Given the description of an element on the screen output the (x, y) to click on. 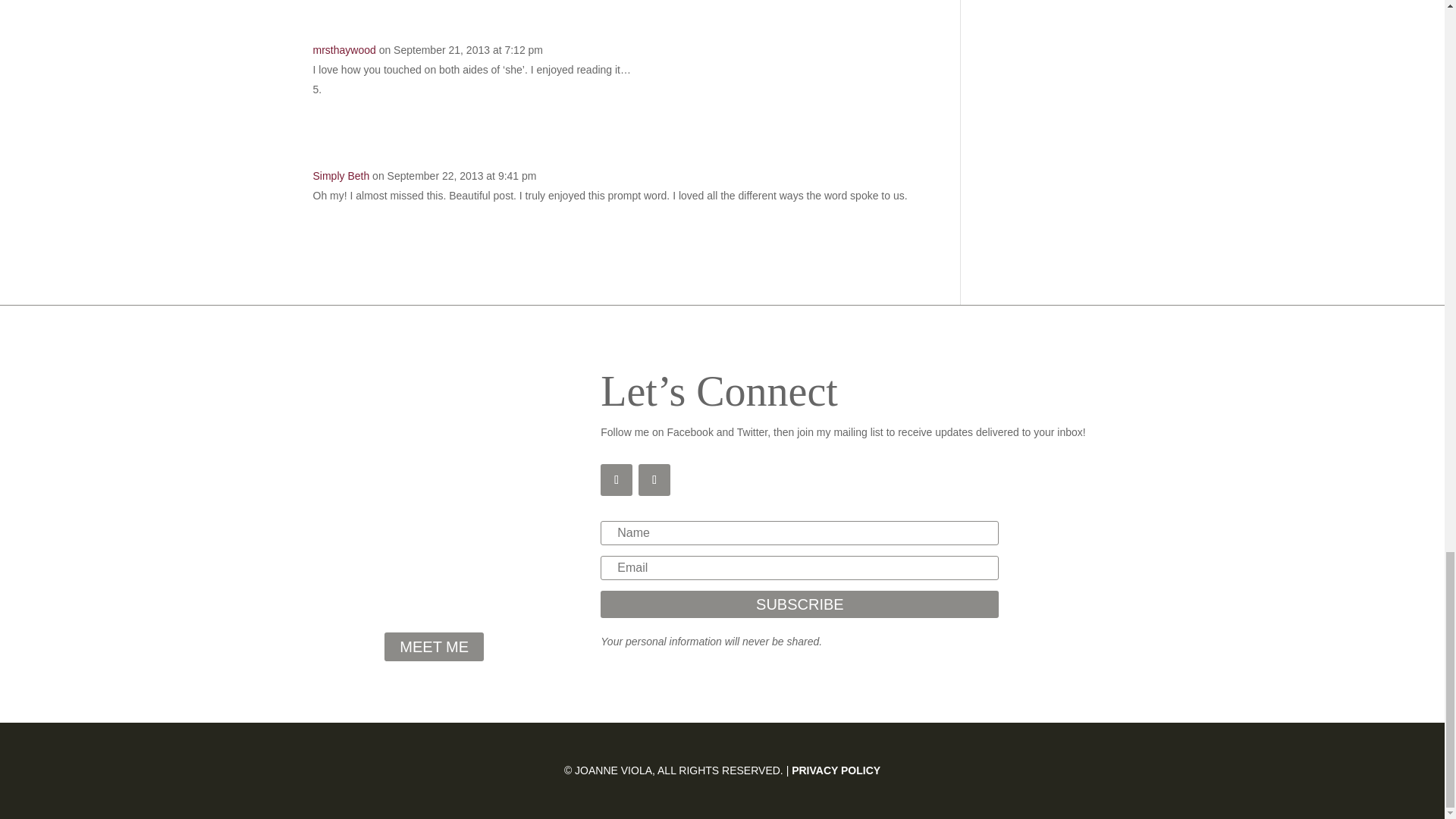
mrsthaywood (344, 50)
MEET ME (433, 646)
Follow on Facebook (615, 480)
Follow on X (654, 480)
Simply Beth (341, 175)
